Given the description of an element on the screen output the (x, y) to click on. 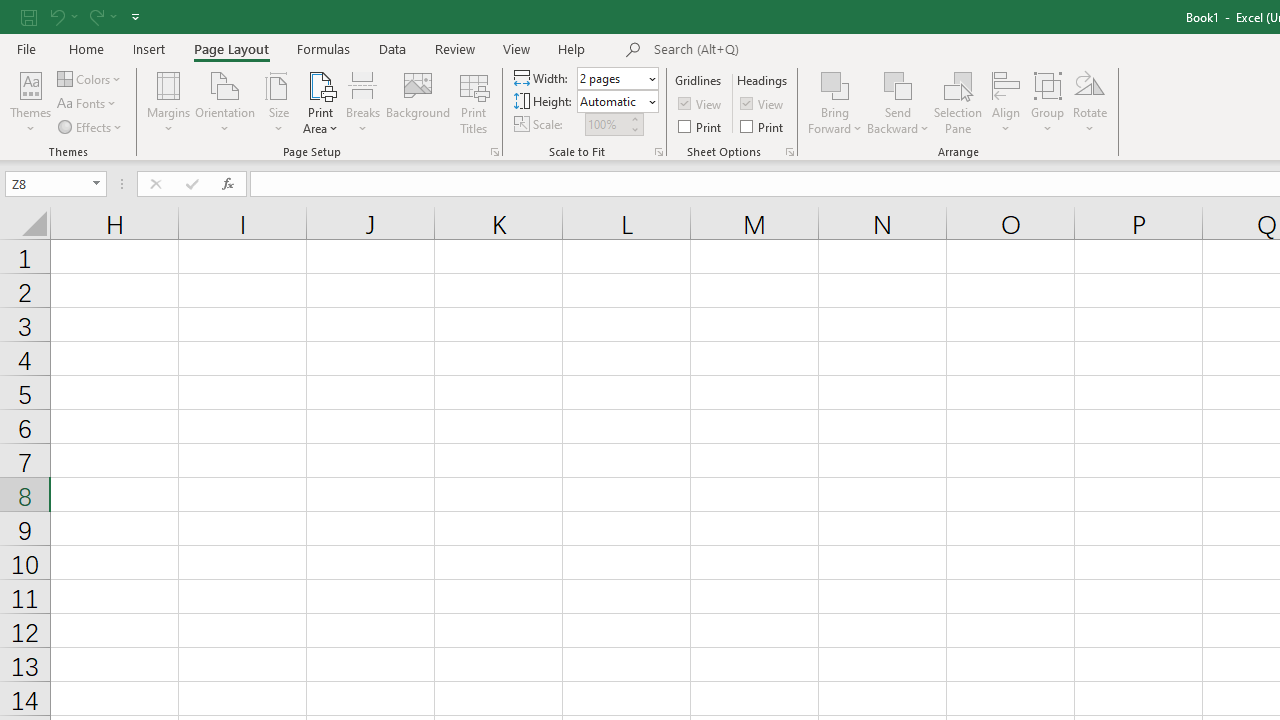
Bring Forward (835, 84)
Margins (168, 102)
Align (1005, 102)
Bring Forward (835, 102)
Height (618, 101)
Size (278, 102)
Width (618, 78)
More (633, 118)
